Given the description of an element on the screen output the (x, y) to click on. 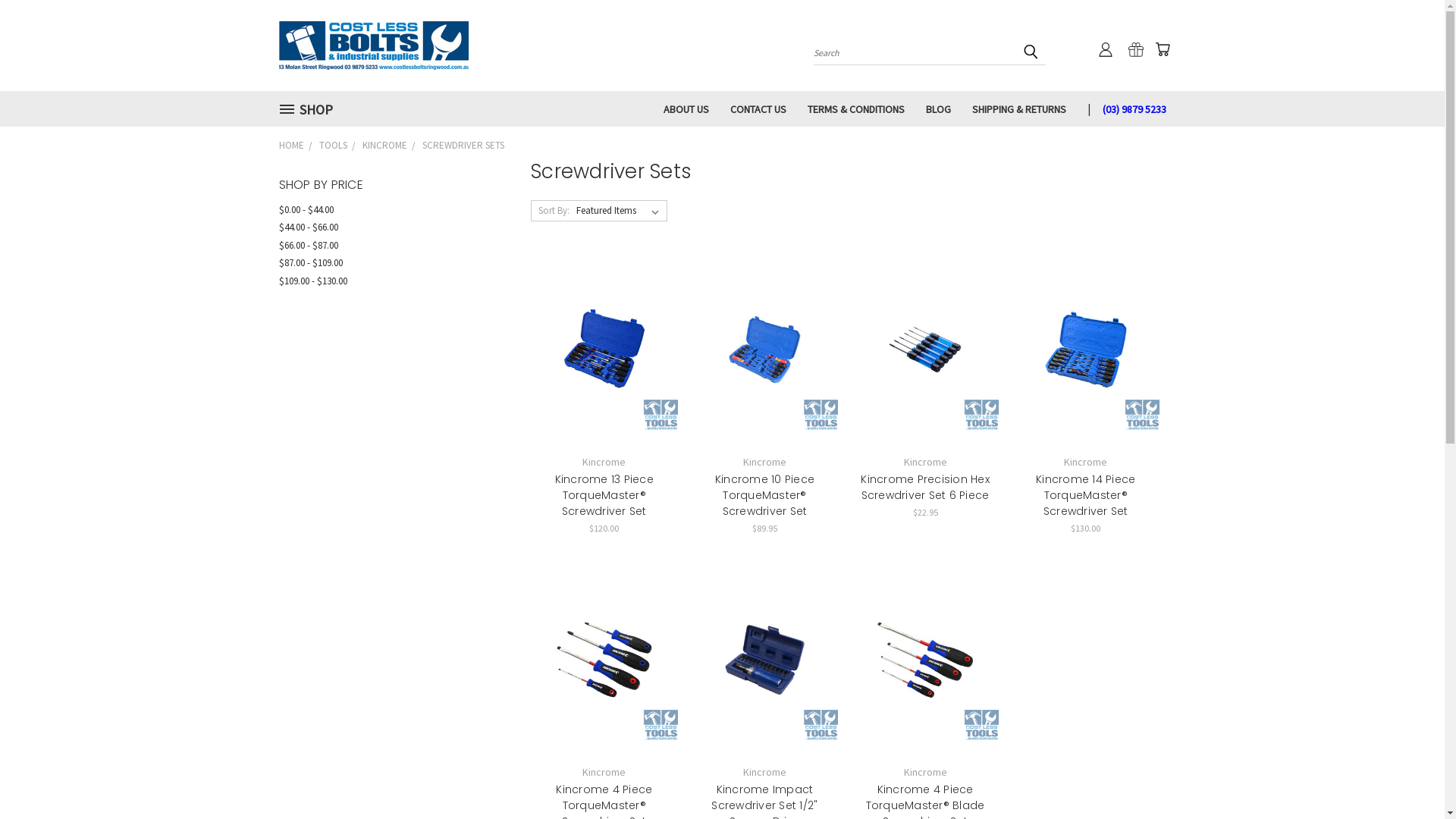
$87.00 - $109.00 Element type: text (386, 263)
SHOP Element type: text (311, 109)
TOOLS Element type: text (332, 144)
Cost Less Tools Element type: hover (373, 45)
submit Element type: hover (1030, 51)
$44.00 - $66.00 Element type: text (386, 227)
$66.00 - $87.00 Element type: text (386, 245)
ABOUT US Element type: text (685, 108)
$109.00 - $130.00 Element type: text (386, 280)
Kincrome Precision Hex Screwdriver Set 6 Piece Element type: text (924, 486)
Kincrome Impact Screwdriver Set 1/2" Square Drive Element type: hover (764, 659)
Kincrome Precision Hex Screwdriver Set 6 Piece Element type: hover (924, 349)
SHIPPING & RETURNS Element type: text (1018, 108)
TERMS & CONDITIONS Element type: text (856, 108)
CONTACT US Element type: text (758, 108)
BLOG Element type: text (938, 108)
HOME Element type: text (291, 144)
(03) 9879 5233 Element type: text (1129, 108)
$0.00 - $44.00 Element type: text (386, 209)
KINCROME Element type: text (384, 144)
